Given the description of an element on the screen output the (x, y) to click on. 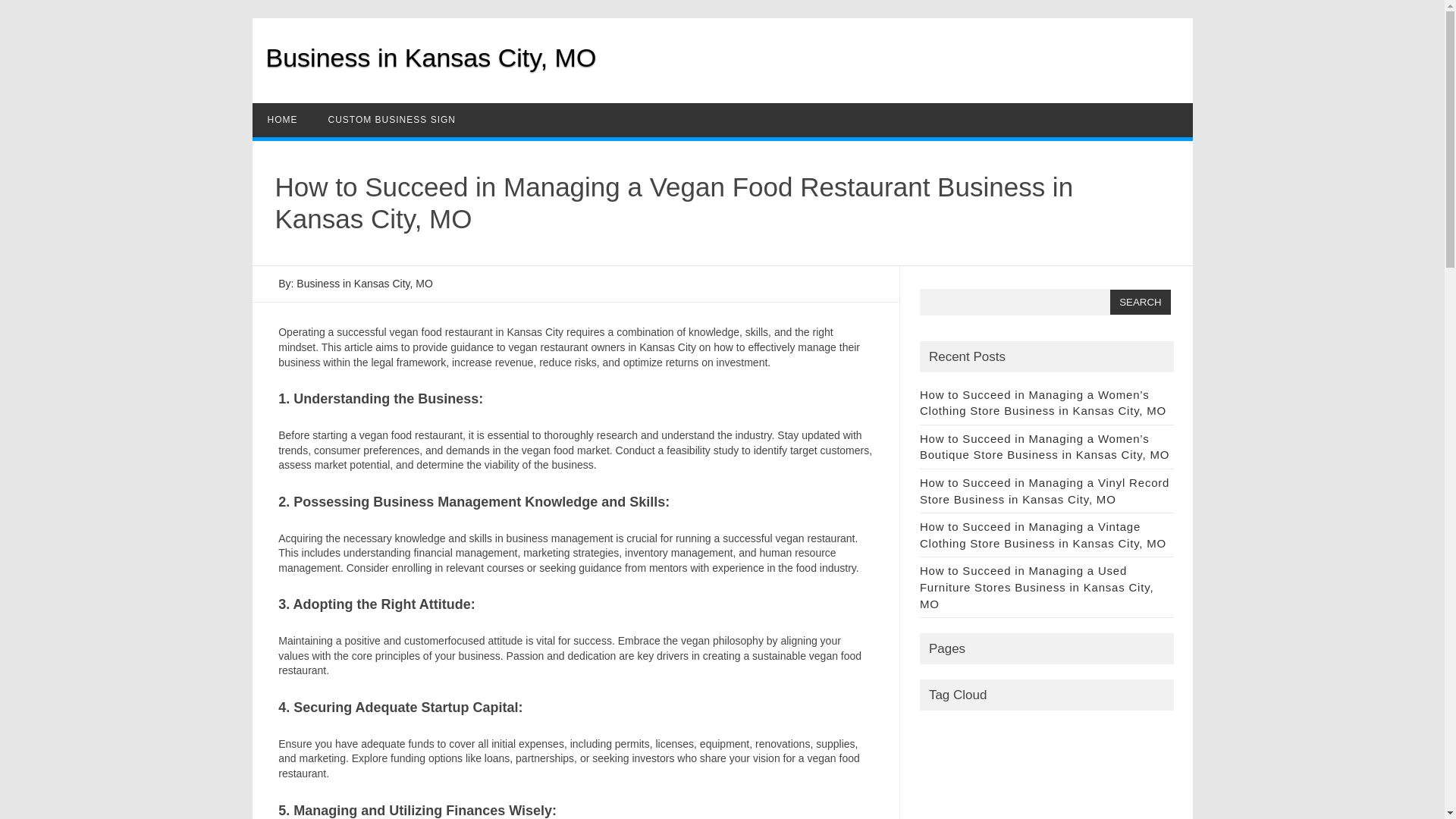
Search (1139, 301)
CUSTOM BUSINESS SIGN (391, 119)
Business in Kansas City, MO (429, 57)
HOME (282, 119)
Search (1139, 301)
Business in Kansas City, MO (429, 57)
